Given the description of an element on the screen output the (x, y) to click on. 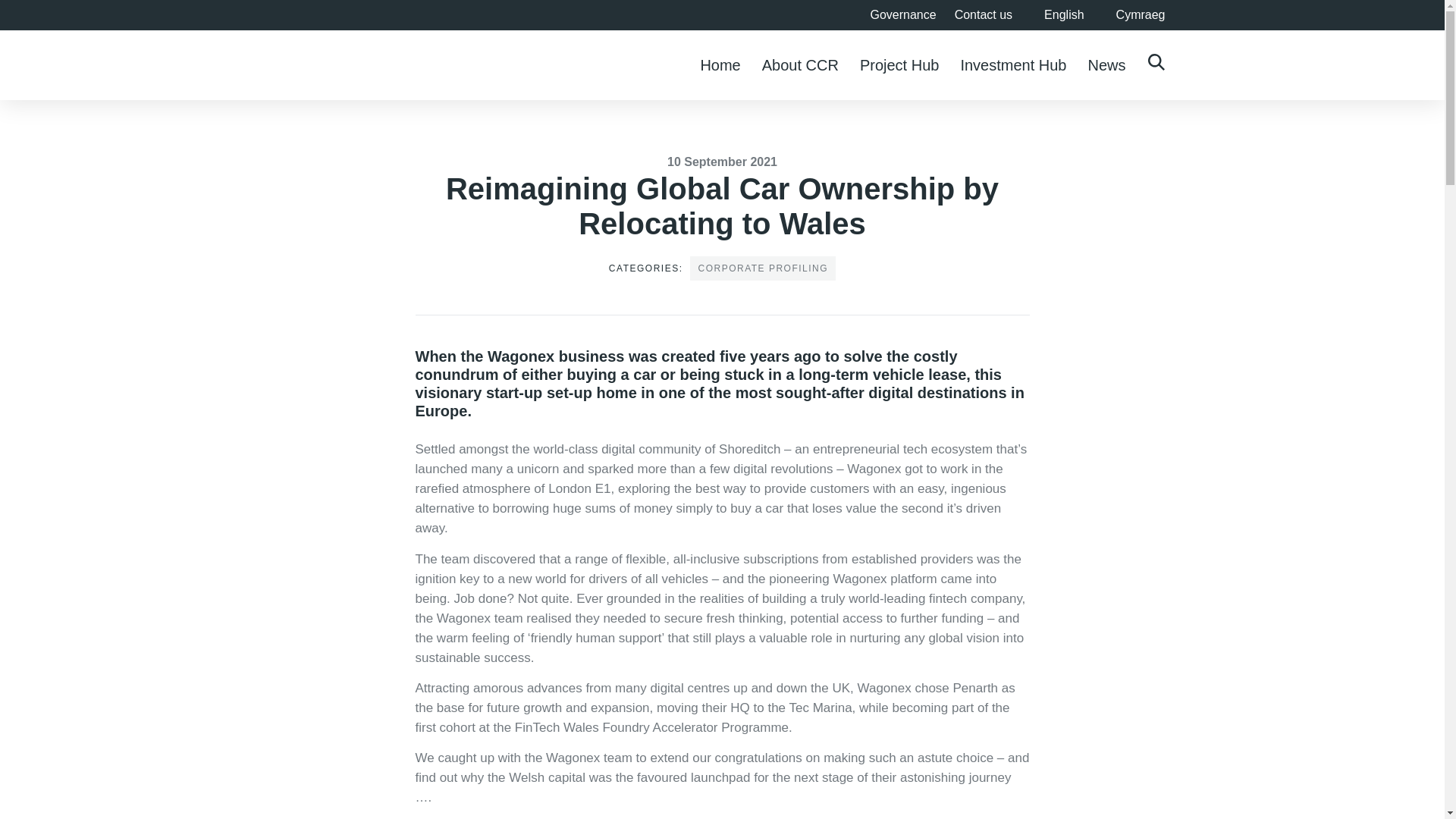
Cymraeg (1134, 15)
Cymraeg (1134, 15)
English (1056, 15)
Contact us (983, 15)
About CCR (799, 64)
Governance (902, 15)
English (1056, 15)
